Given the description of an element on the screen output the (x, y) to click on. 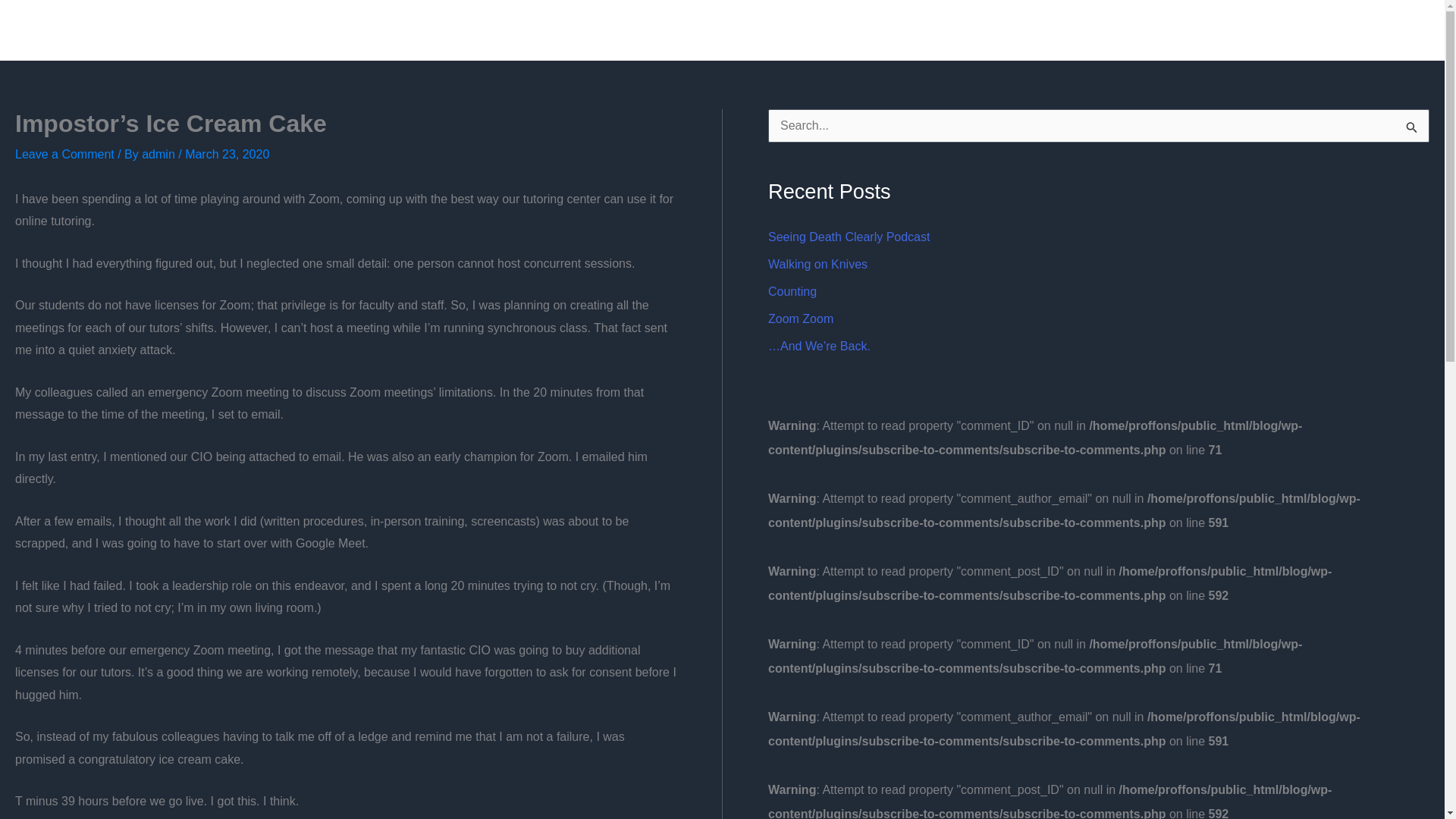
Counting (792, 291)
Prof. Fonseca (62, 30)
admin (159, 154)
Seeing Death Clearly Podcast (849, 236)
View all posts by admin (159, 154)
Zoom Zoom (800, 318)
Leave a Comment (64, 154)
Walking on Knives (817, 264)
